Given the description of an element on the screen output the (x, y) to click on. 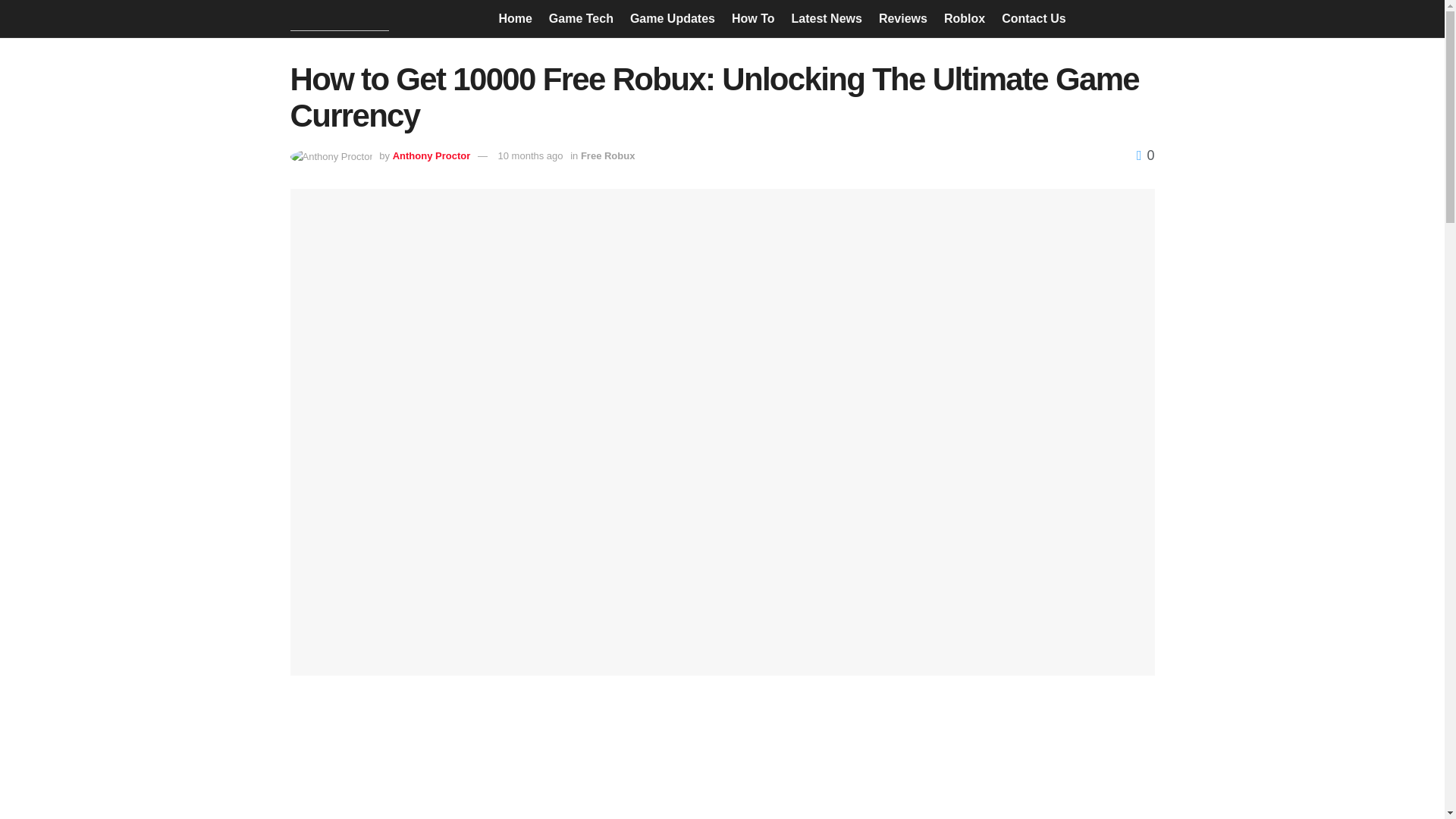
Anthony Proctor (431, 155)
10 months ago (530, 155)
Game Updates (672, 18)
Contact Us (1033, 18)
0 (1145, 155)
Reviews (903, 18)
Advertisement (721, 758)
How To (753, 18)
Latest News (826, 18)
Free Robux (607, 155)
